Given the description of an element on the screen output the (x, y) to click on. 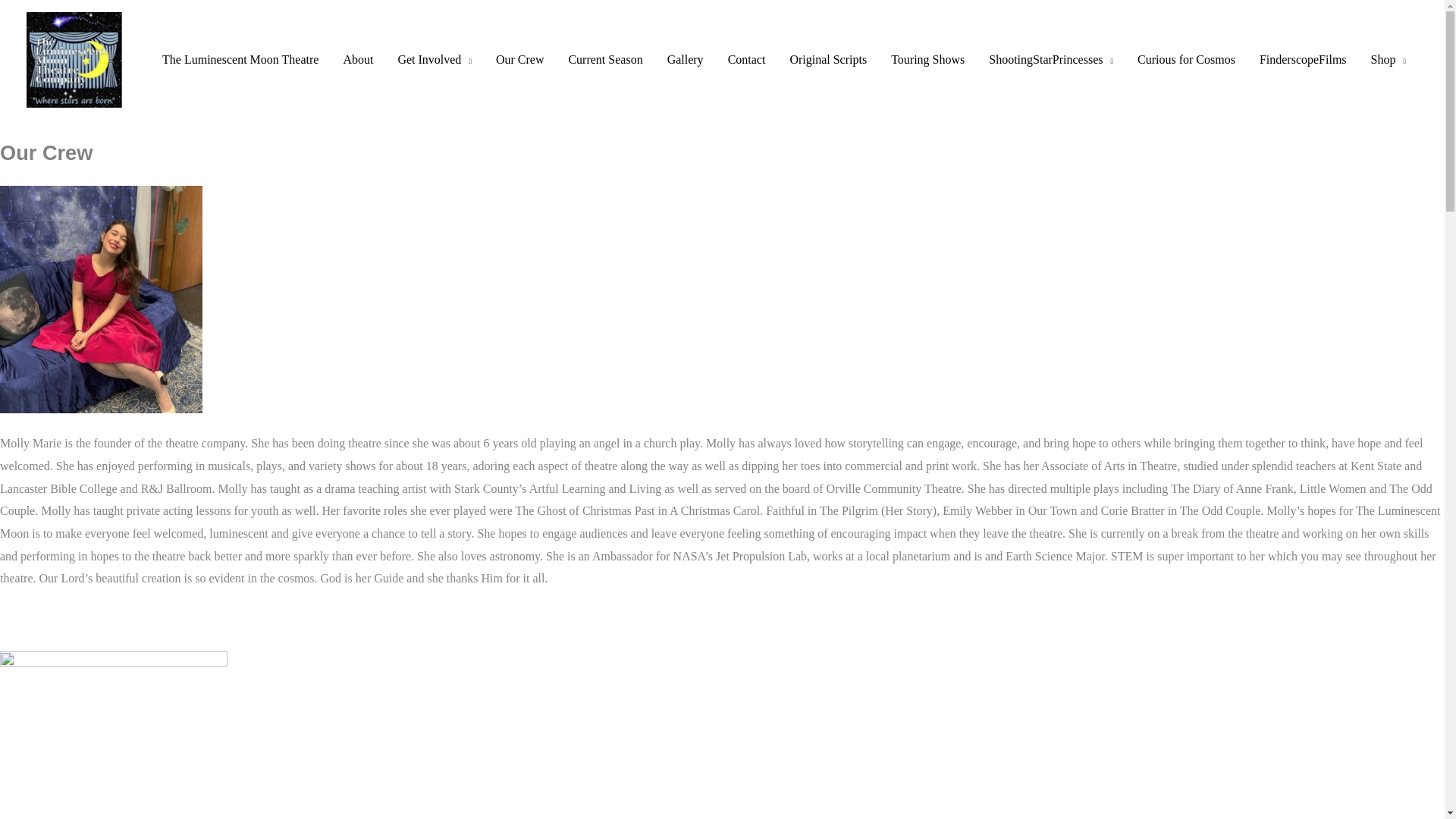
Shop (1388, 60)
Gallery (685, 60)
The Luminescent Moon Theatre (239, 60)
About (357, 60)
FinderscopeFilms (1302, 60)
Get Involved (434, 60)
Touring Shows (927, 60)
Original Scripts (828, 60)
Our Crew (519, 60)
Current Season (604, 60)
